Given the description of an element on the screen output the (x, y) to click on. 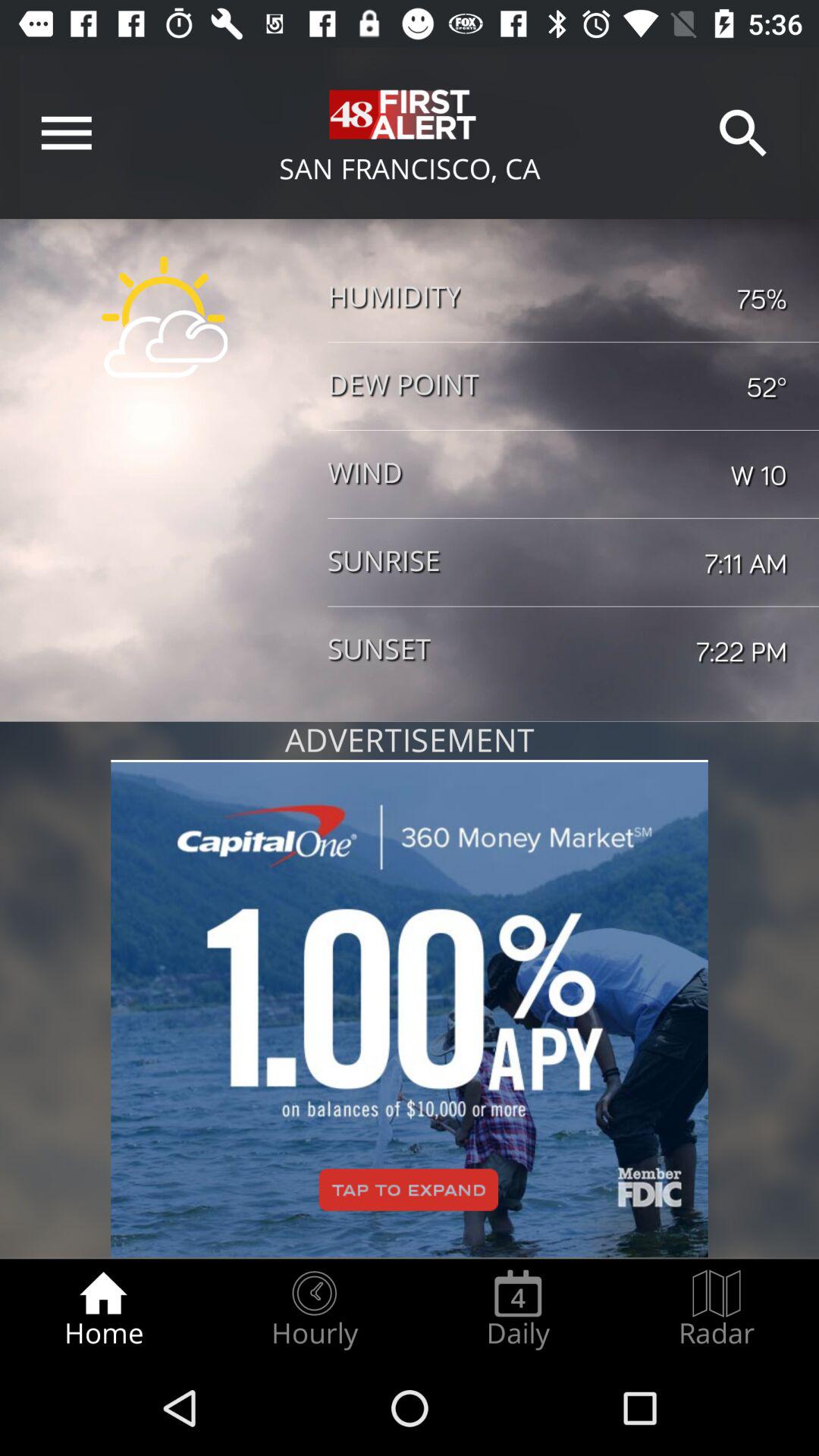
click the radio button next to daily (314, 1309)
